Given the description of an element on the screen output the (x, y) to click on. 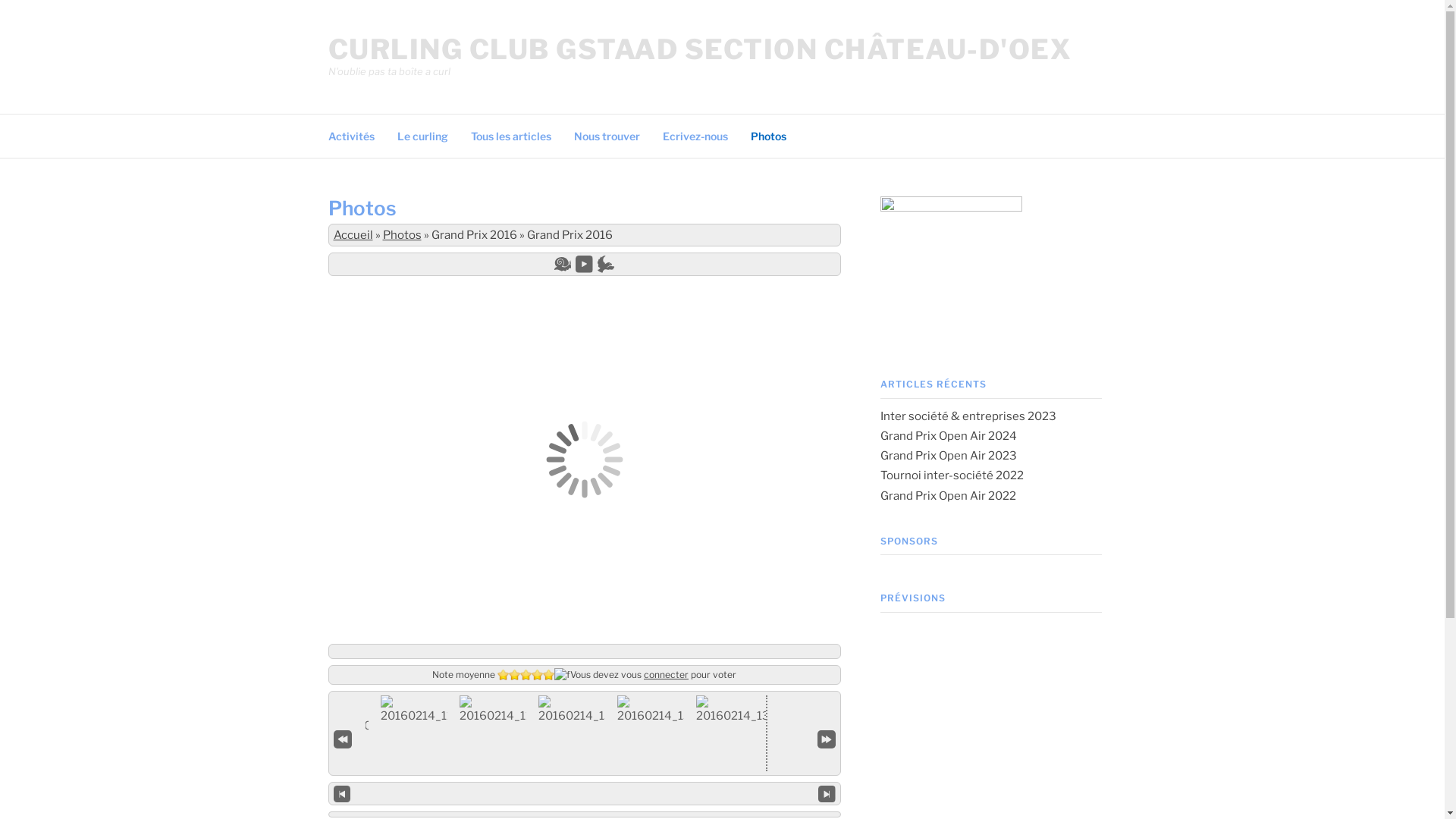
Grand Prix 2016 Element type: text (473, 234)
Grand Prix Open Air 2023 Element type: text (947, 455)
Le curling Element type: text (422, 134)
Photos Element type: text (768, 134)
Grand Prix Open Air 2024 Element type: text (947, 435)
Nous trouver Element type: text (606, 134)
Ralentir Element type: hover (562, 264)
Suiv. Element type: hover (826, 793)
connecter Element type: text (665, 674)
Premier Element type: hover (342, 737)
Tous les articles Element type: text (510, 134)
Grand Prix Open Air 2022 Element type: text (947, 495)
Ecrivez-nous Element type: text (695, 134)
Photos Element type: text (401, 234)
Accueil Element type: text (353, 234)
Dernier Element type: hover (826, 737)
